Given the description of an element on the screen output the (x, y) to click on. 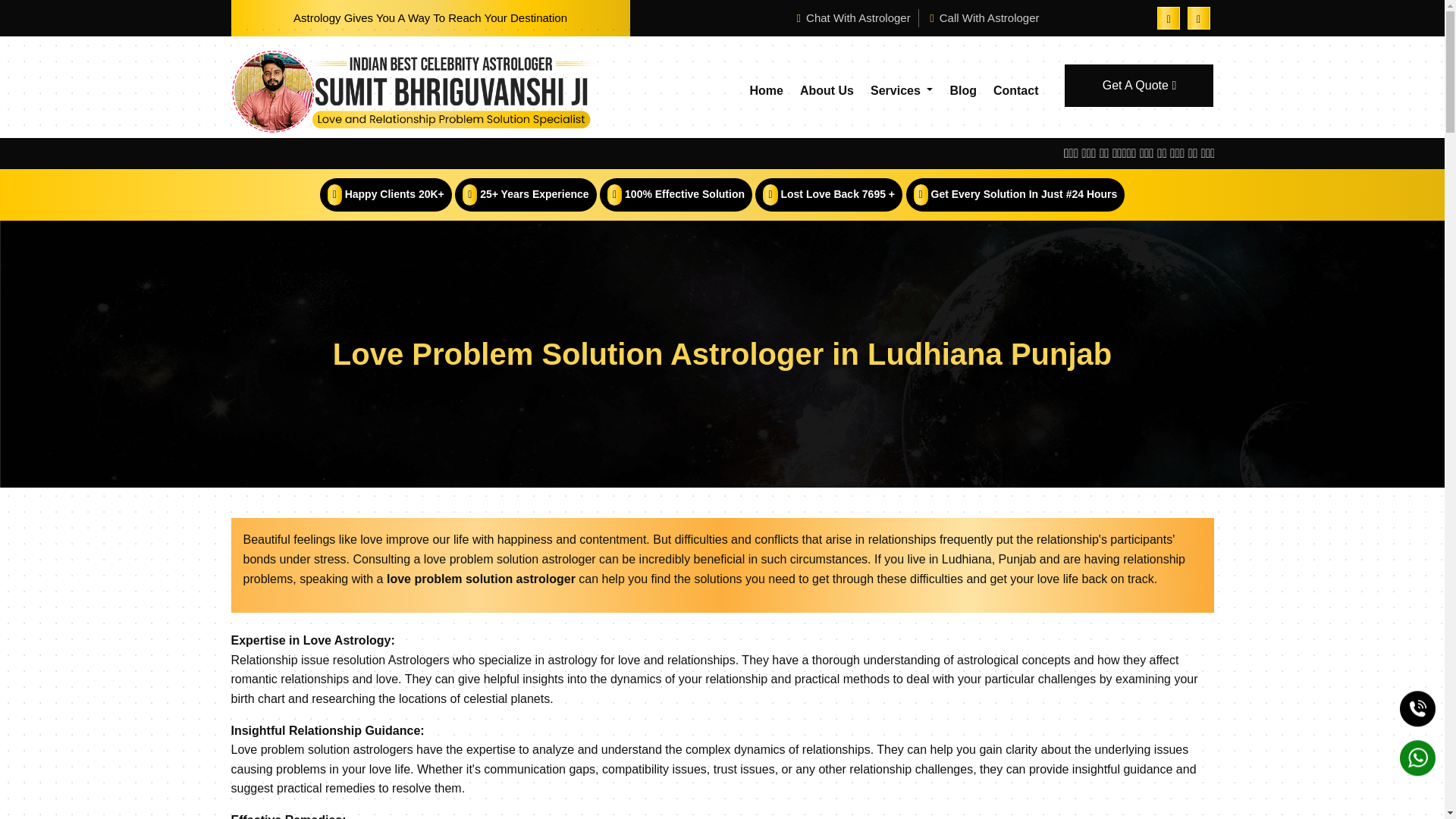
Services (901, 90)
Blog (962, 90)
Call With Astrologer (984, 17)
Chat With Astrologer (853, 17)
Home (765, 90)
Get A Quote (1138, 85)
About Us (826, 90)
Contact (1016, 90)
